Given the description of an element on the screen output the (x, y) to click on. 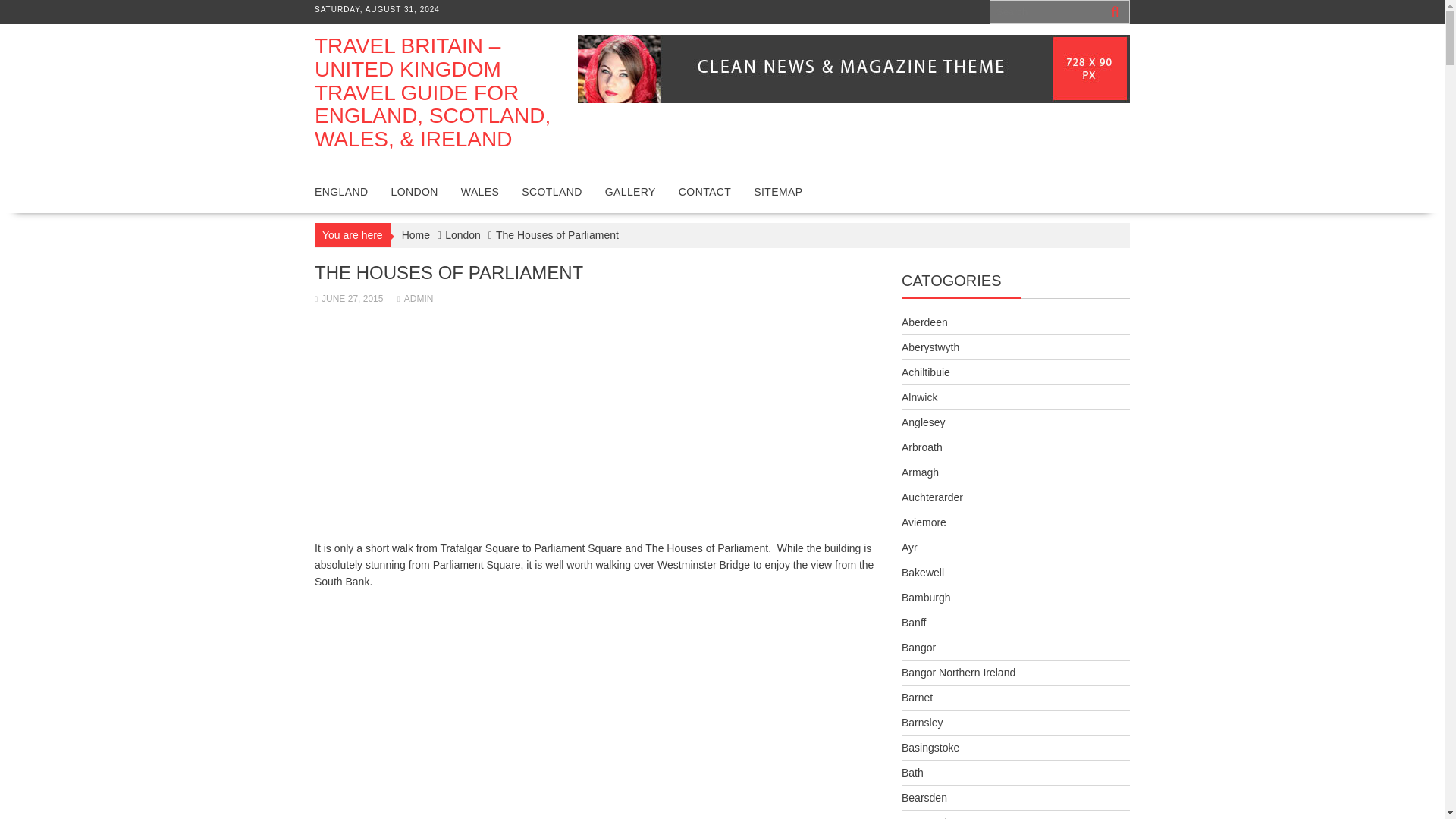
Aviemore (923, 522)
Aberdeen (924, 322)
GALLERY (630, 191)
Armagh (920, 472)
Arbroath (921, 447)
Achiltibuie (925, 372)
ENGLAND (340, 191)
Home (415, 234)
Alnwick (919, 397)
London (462, 234)
